Given the description of an element on the screen output the (x, y) to click on. 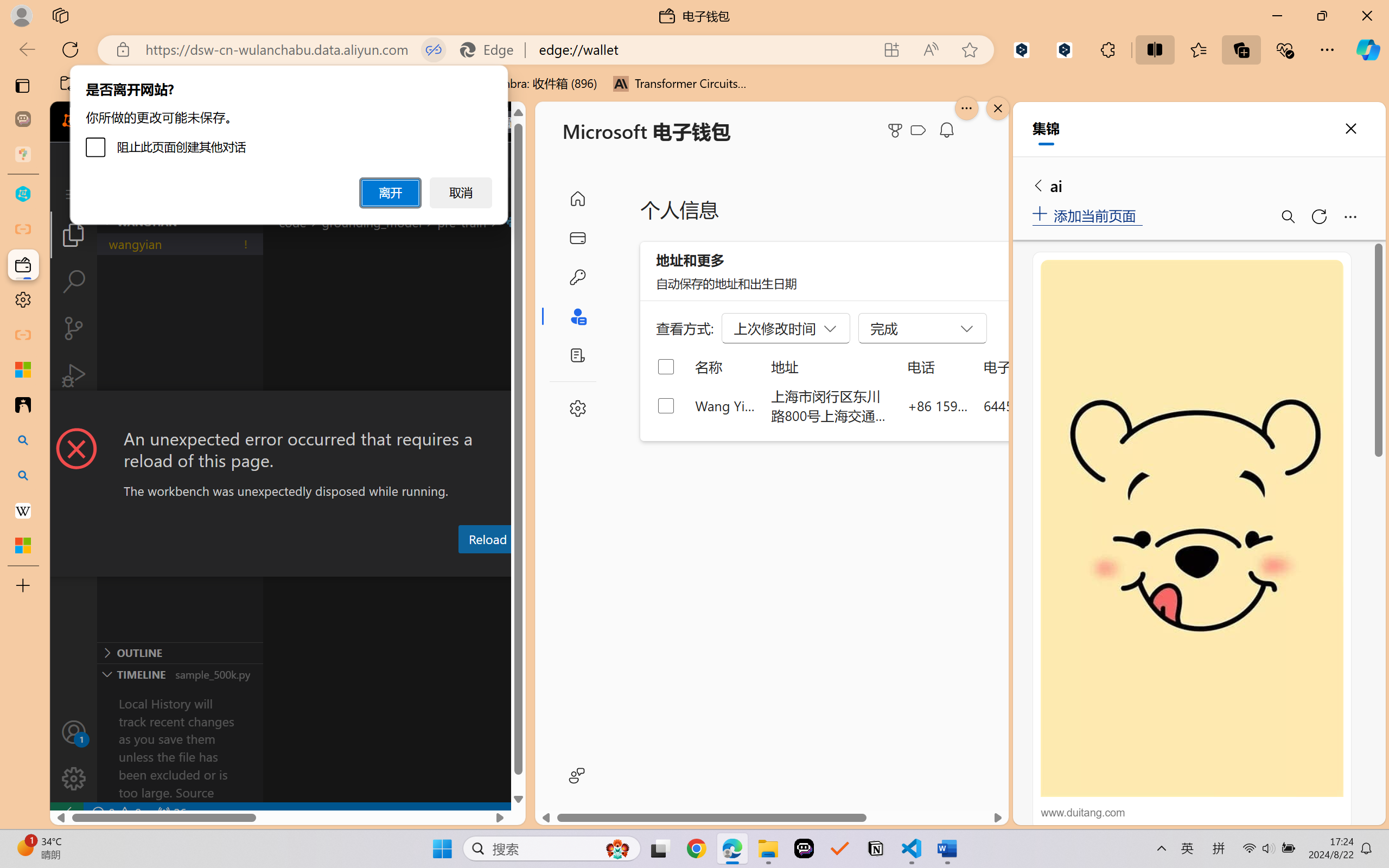
Problems (Ctrl+Shift+M) (308, 565)
Outline Section (179, 652)
Transformer Circuits Thread (680, 83)
